Given the description of an element on the screen output the (x, y) to click on. 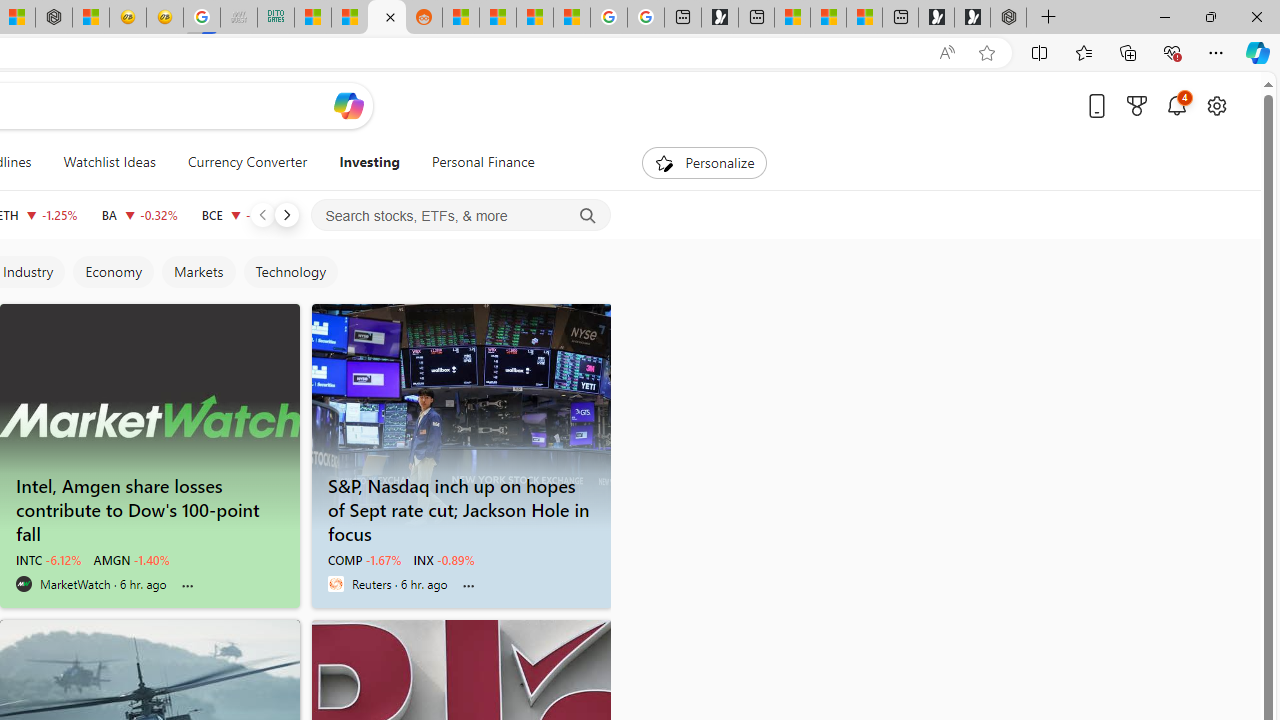
Collections (1128, 52)
Settings and more (Alt+F) (1215, 52)
INX -0.89% (443, 560)
COMP -1.67% (363, 560)
Personal Finance (483, 162)
Navy Quest (239, 17)
Next (286, 214)
MSN (386, 17)
Copilot (Ctrl+Shift+.) (1258, 52)
New Tab (1048, 17)
